Given the description of an element on the screen output the (x, y) to click on. 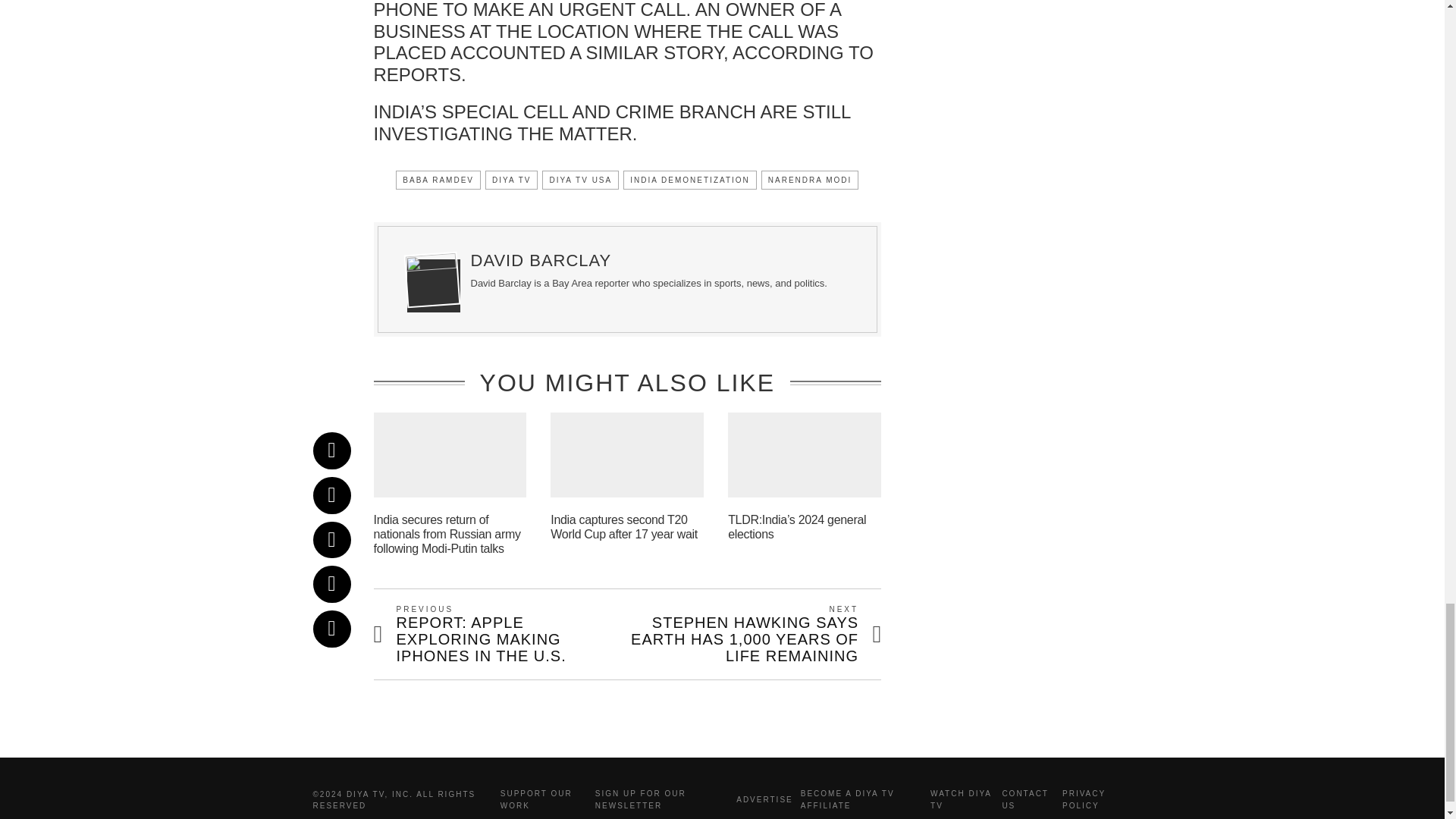
INDIA DEMONETIZATION (690, 179)
DIYA TV (510, 179)
DAVID BARCLAY (540, 260)
NARENDRA MODI (810, 179)
BABA RAMDEV (438, 179)
DIYA TV USA (579, 179)
India captures second T20 World Cup after 17 year wait (623, 526)
